Given the description of an element on the screen output the (x, y) to click on. 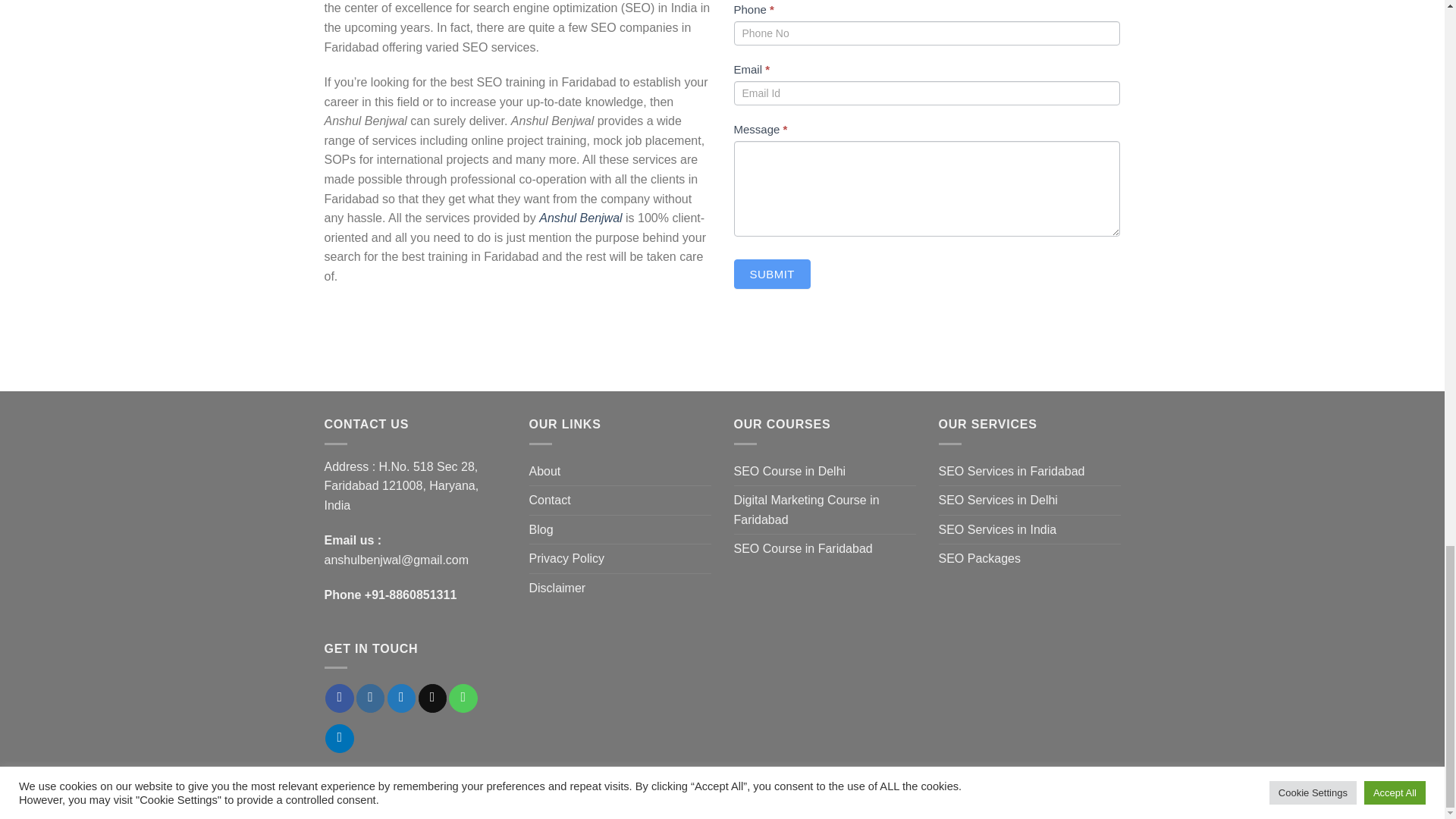
About (544, 471)
Contact (549, 500)
Anshul Benjwal (579, 217)
SUBMIT (771, 274)
